Given the description of an element on the screen output the (x, y) to click on. 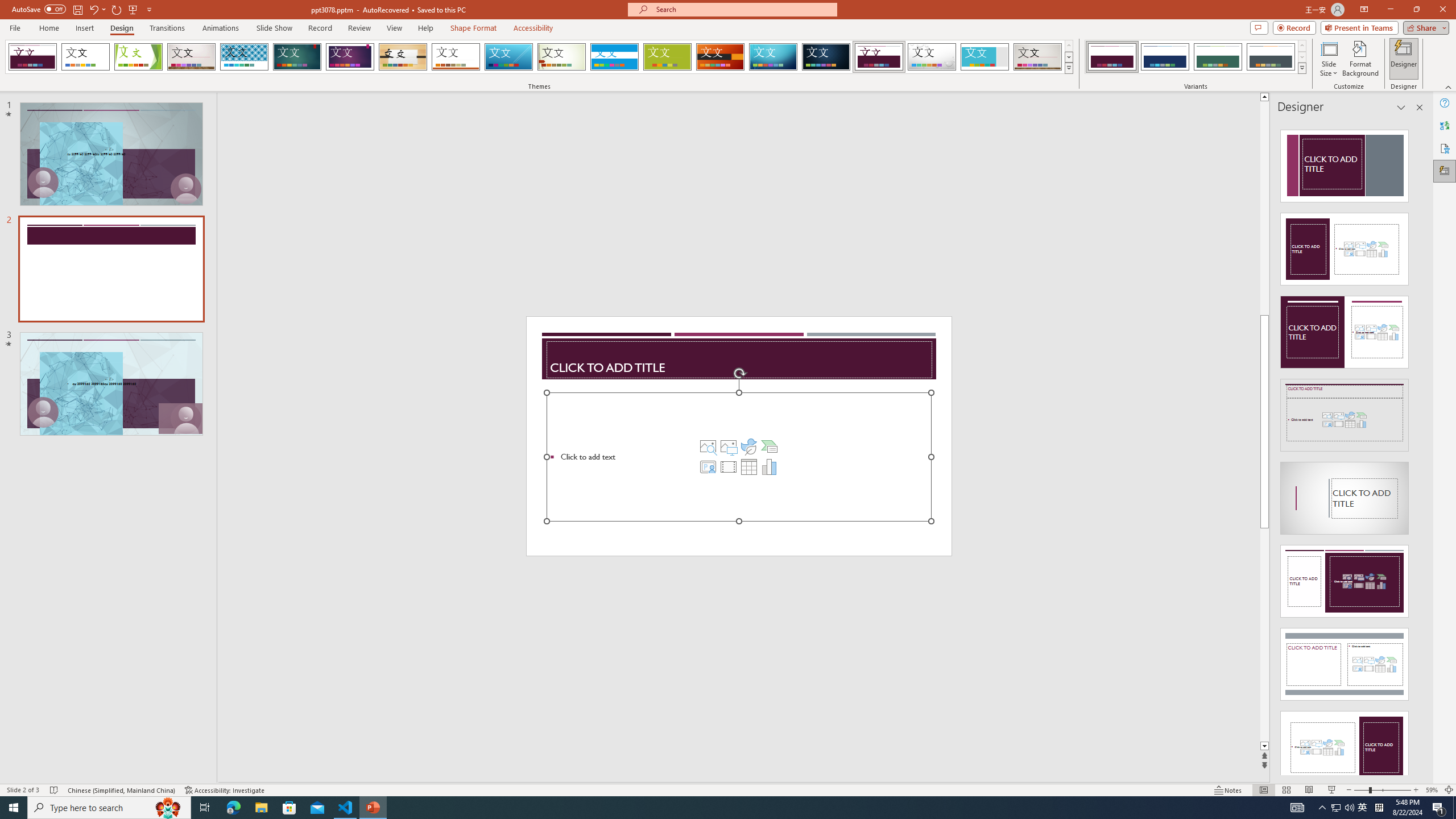
Dividend Variant 3 (1217, 56)
Themes (1068, 67)
Office Theme (85, 56)
Dividend Variant 1 (1112, 56)
Wisp (561, 56)
